Given the description of an element on the screen output the (x, y) to click on. 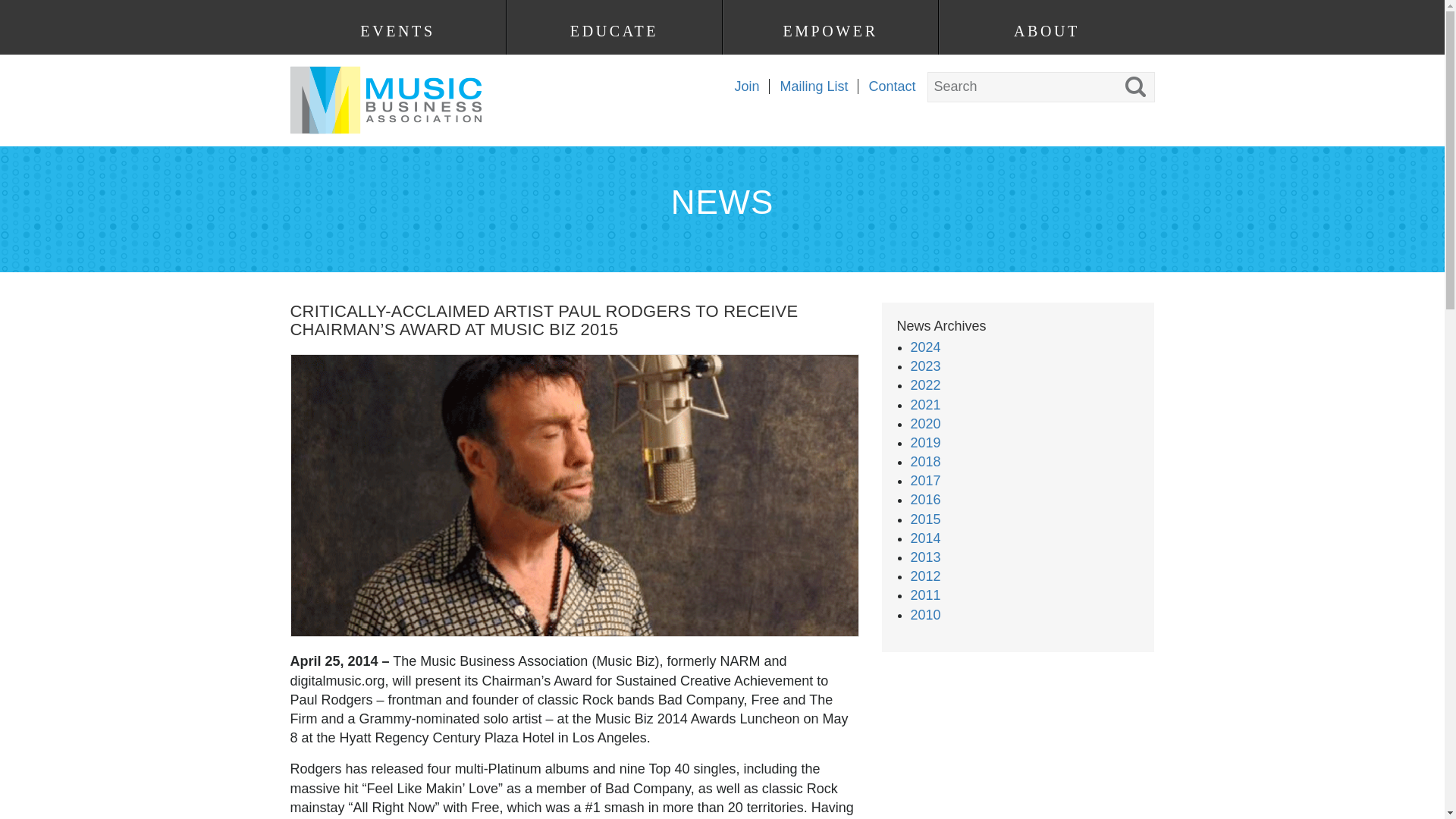
Mailing List (807, 86)
ABOUT (1046, 31)
EDUCATE (613, 31)
Join (740, 86)
EMPOWER (830, 31)
Contact (886, 86)
EVENTS (397, 31)
Search (27, 10)
